Given the description of an element on the screen output the (x, y) to click on. 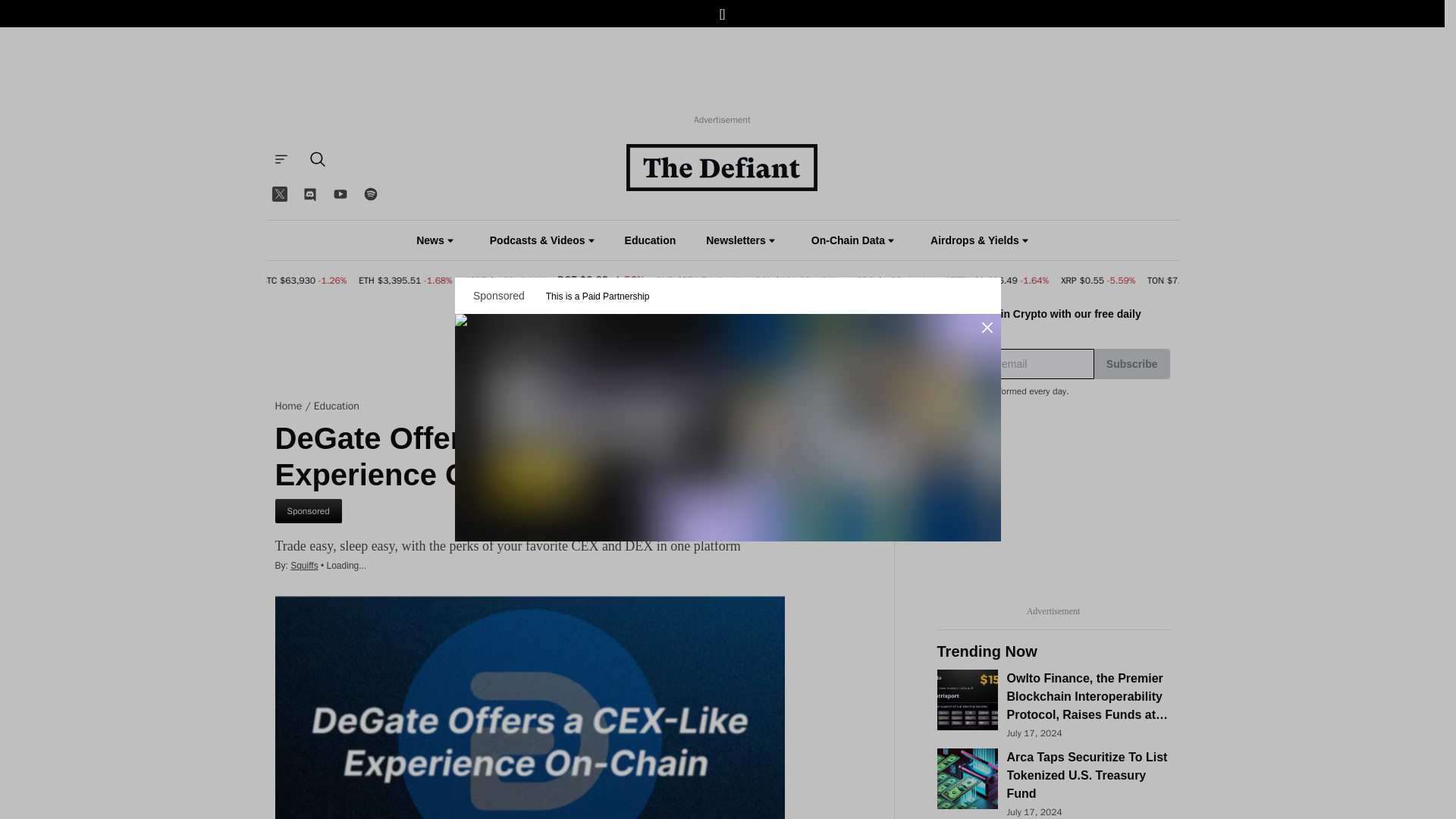
On-Chain Data (851, 240)
Education (650, 240)
Newsletters (740, 240)
YouTube (339, 194)
Discord (309, 194)
Spotify (370, 194)
News (434, 240)
Hamburguer button (279, 159)
Twitter (278, 194)
